Given the description of an element on the screen output the (x, y) to click on. 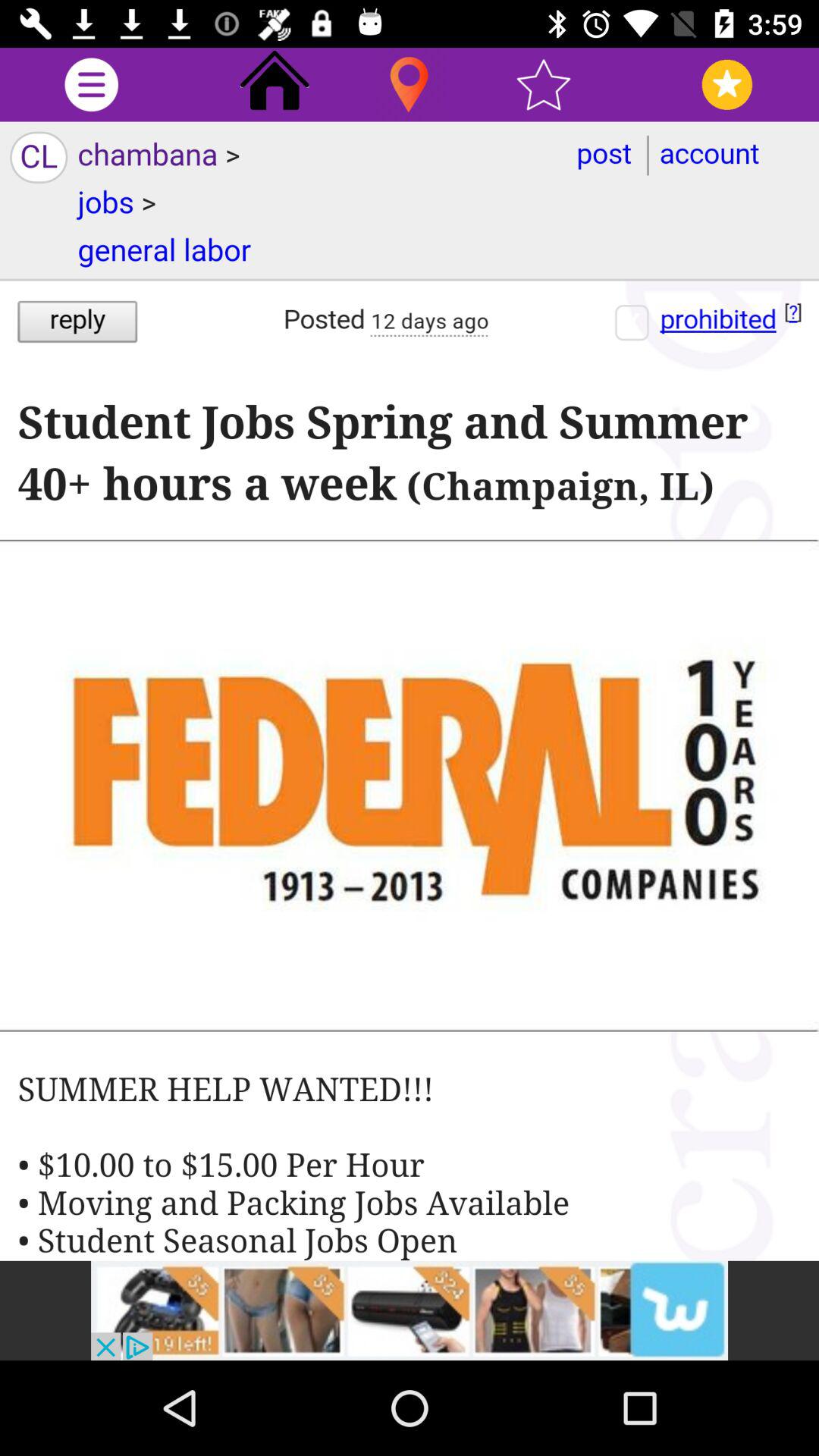
advertisement (409, 1310)
